Given the description of an element on the screen output the (x, y) to click on. 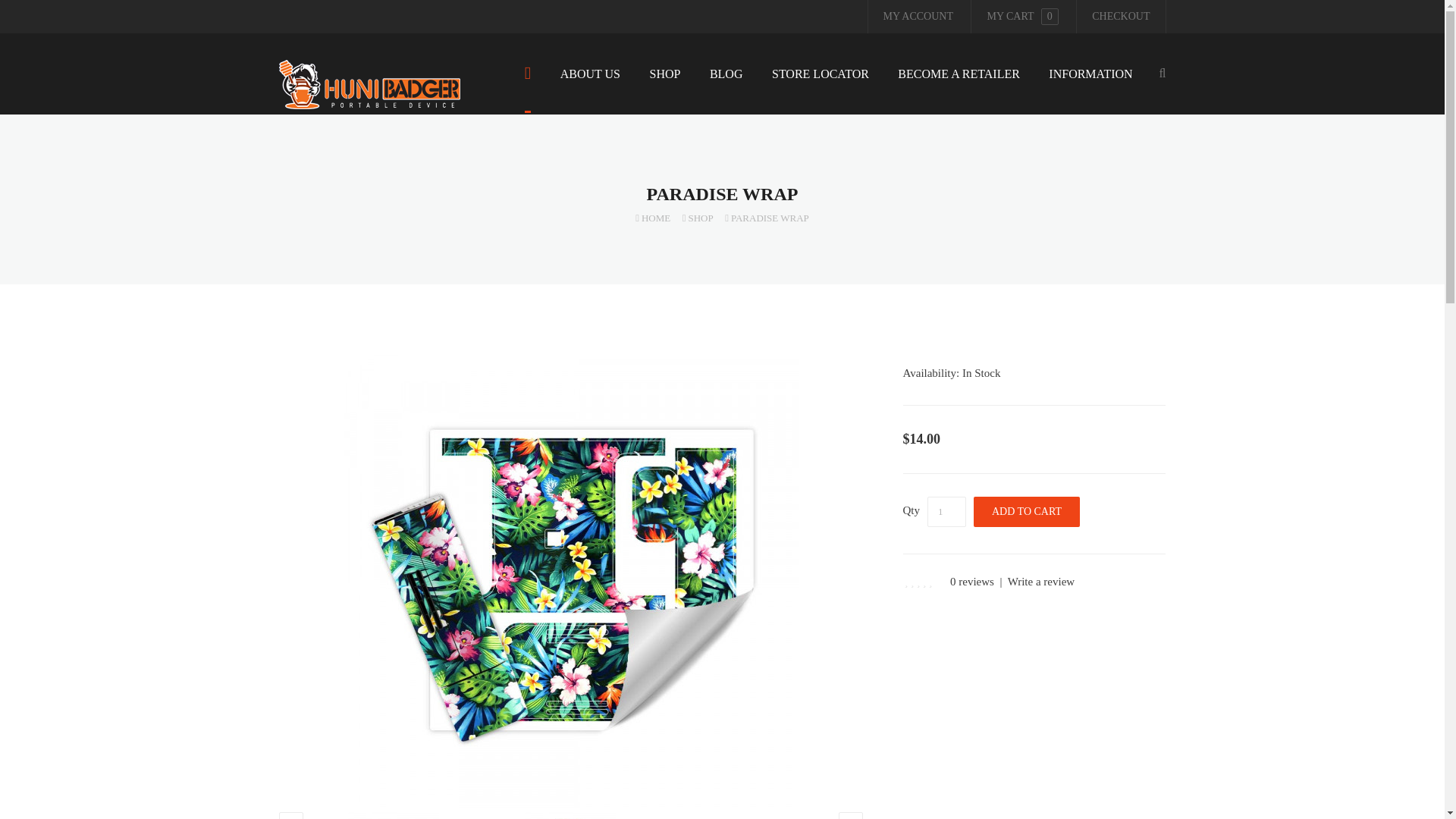
CHECKOUT (1120, 16)
Add to Cart (1027, 511)
SHOP (665, 86)
Write a review (1041, 581)
HOME (651, 217)
ABOUT US (590, 86)
PARADISE WRAP (767, 217)
BLOG (726, 86)
Paradise Wrap (569, 815)
MY CART 0 (1022, 16)
0 reviews (972, 581)
INFORMATION (1090, 86)
1 (946, 511)
